Given the description of an element on the screen output the (x, y) to click on. 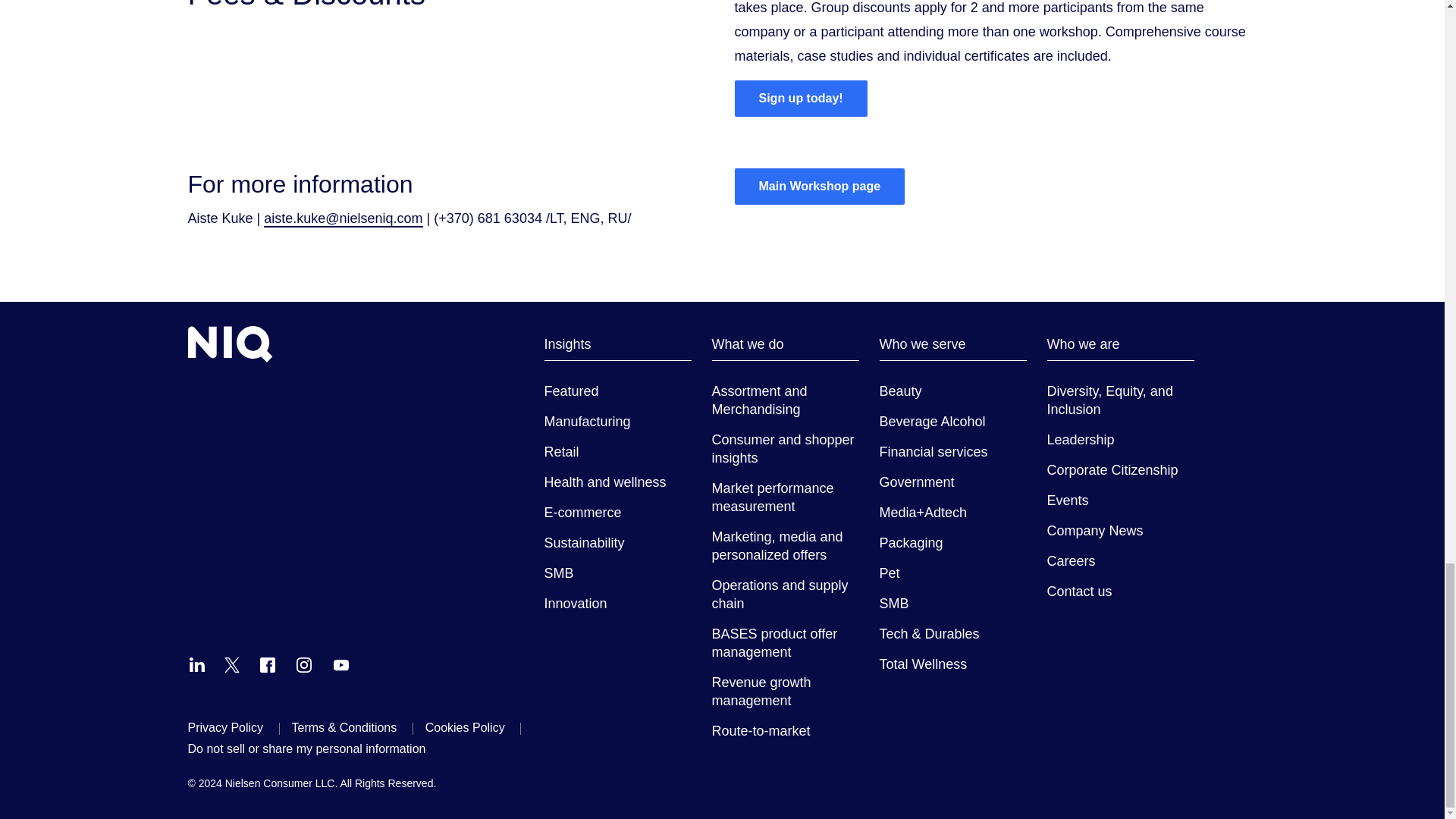
Instagram (304, 665)
YouTube (340, 665)
Linkedin (196, 665)
Facebook (266, 665)
